Given the description of an element on the screen output the (x, y) to click on. 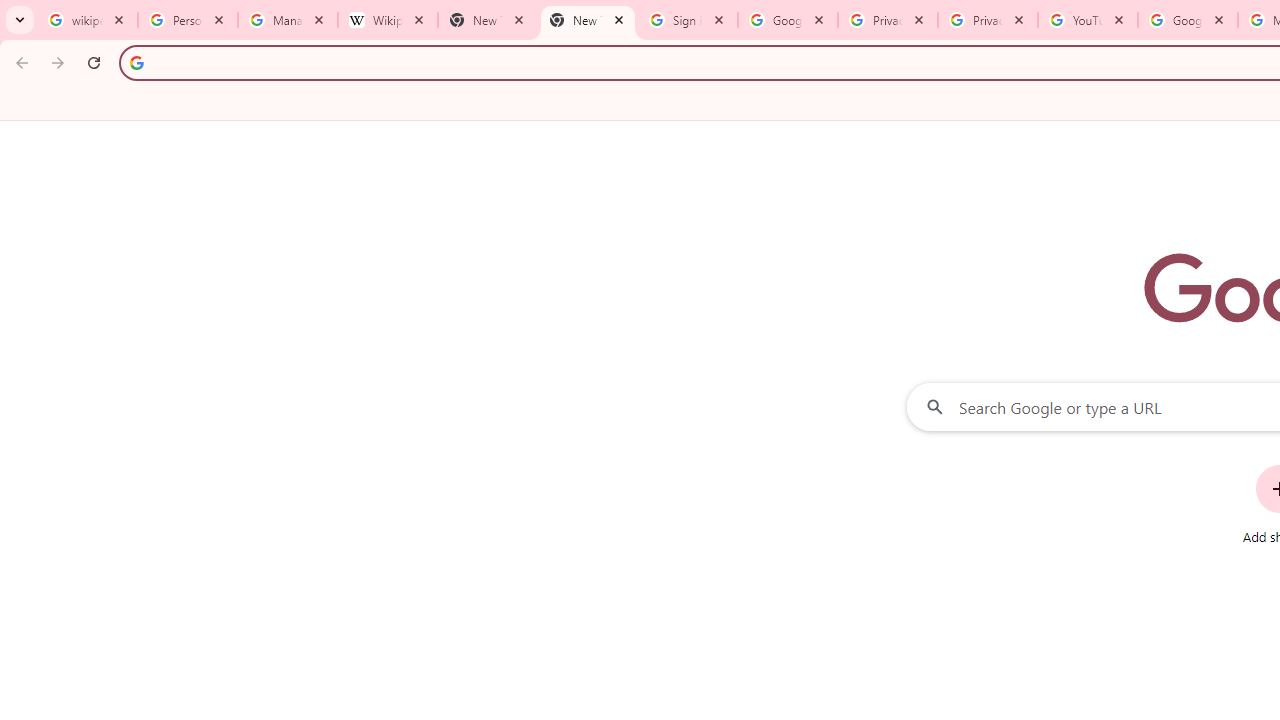
New Tab (587, 20)
Google Account Help (1187, 20)
Sign in - Google Accounts (687, 20)
Personalization & Google Search results - Google Search Help (188, 20)
Google Drive: Sign-in (788, 20)
